Given the description of an element on the screen output the (x, y) to click on. 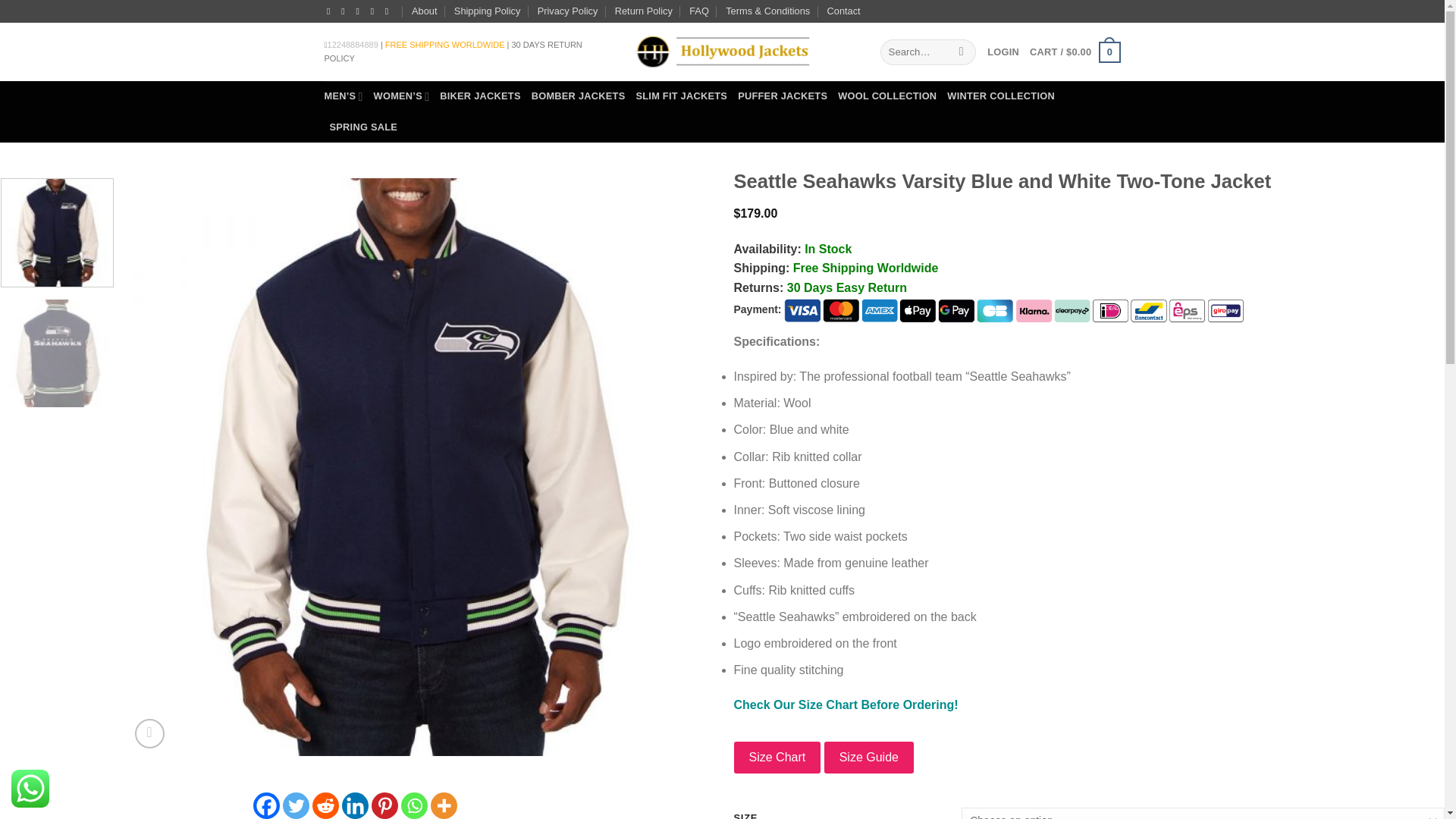
Contact (843, 11)
Cart (1074, 52)
Linkedin (355, 805)
Return Policy (643, 11)
Shipping Policy (487, 11)
More (443, 805)
LOGIN (1003, 51)
About (424, 11)
Search (961, 52)
